Given the description of an element on the screen output the (x, y) to click on. 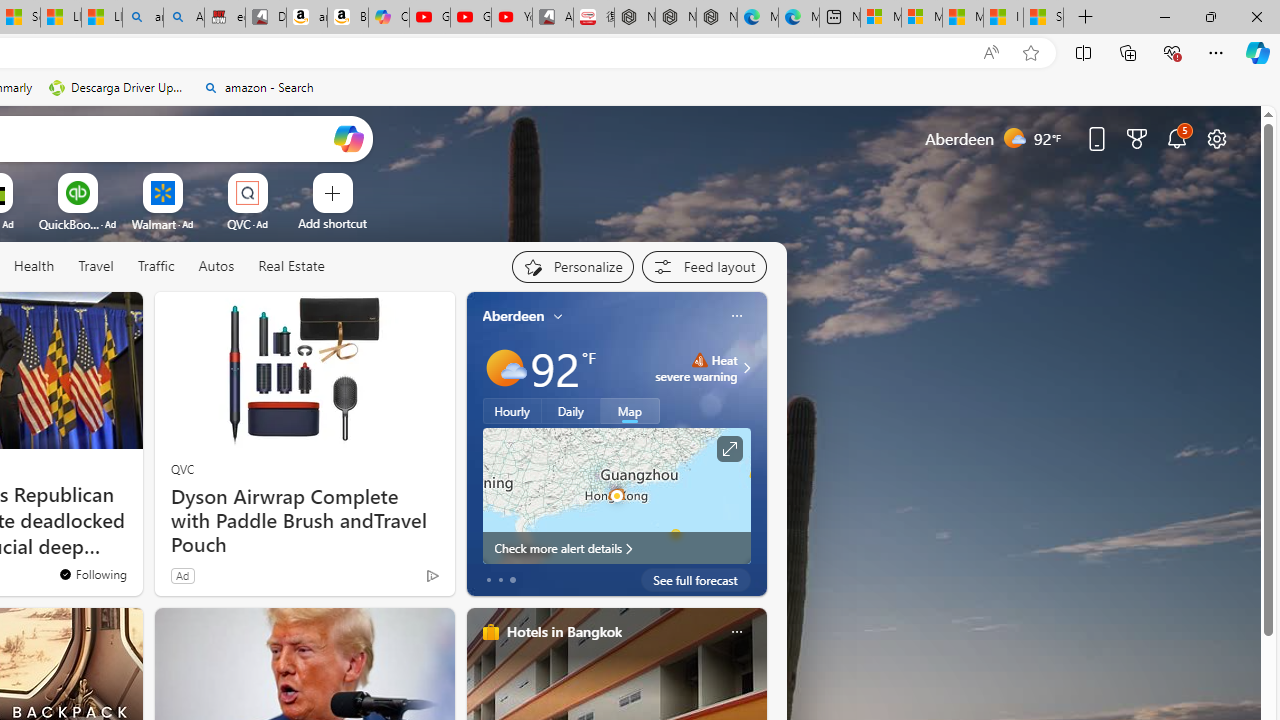
Map (630, 411)
Heat - Severe (699, 359)
Dyson Airwrap Complete with Paddle Brush andTravel Pouch (304, 521)
Larger map  (616, 495)
Check more alert details (616, 547)
tab-2 (511, 579)
